Given the description of an element on the screen output the (x, y) to click on. 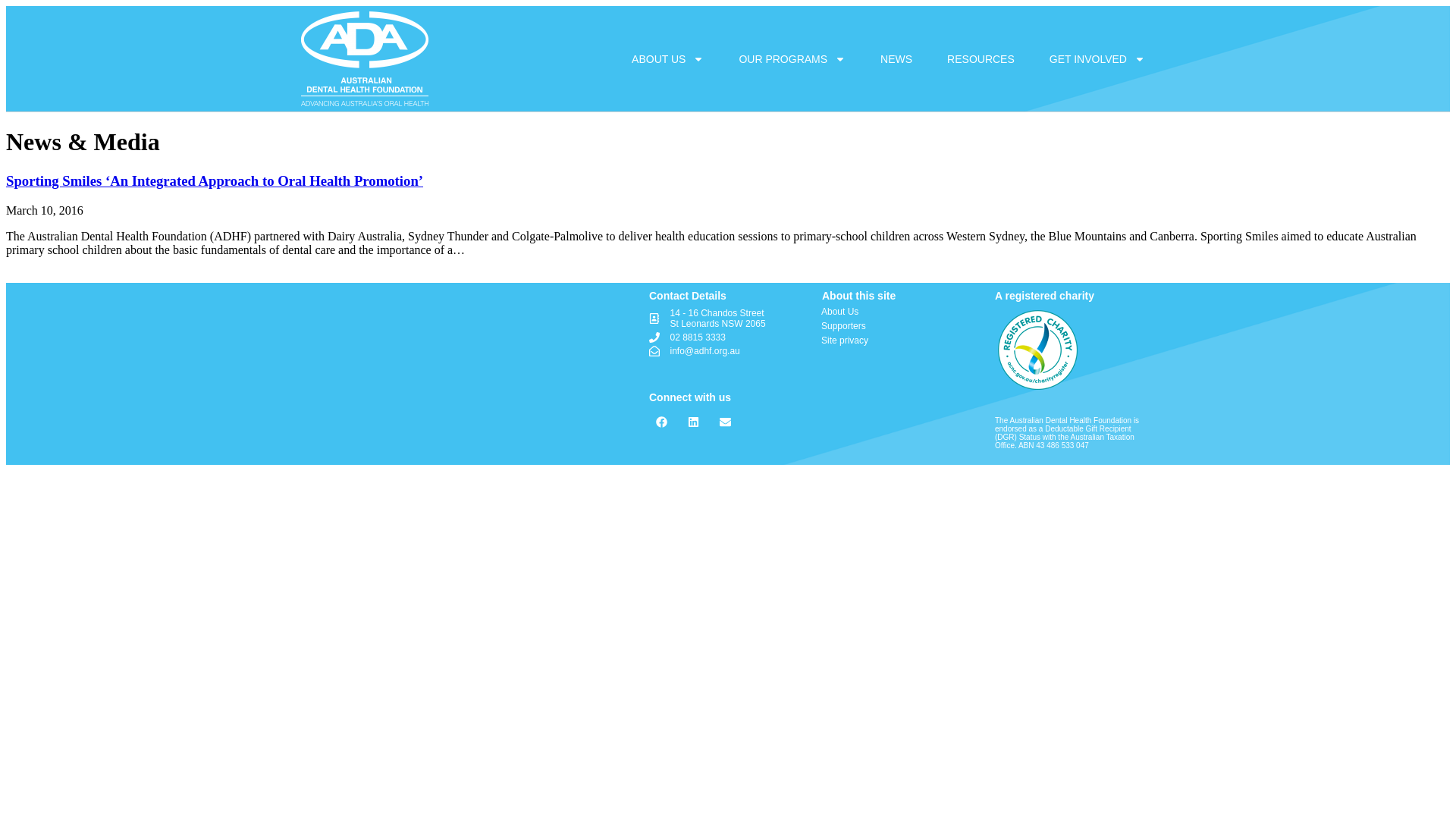
Site privacy Element type: text (898, 340)
GET INVOLVED Element type: text (1097, 59)
NEWS Element type: text (896, 59)
Supporters Element type: text (898, 325)
info@adhf.org.au Element type: text (727, 350)
ABOUT US Element type: text (667, 59)
OUR PROGRAMS Element type: text (791, 59)
RESOURCES Element type: text (980, 59)
About Us Element type: text (898, 311)
